Given the description of an element on the screen output the (x, y) to click on. 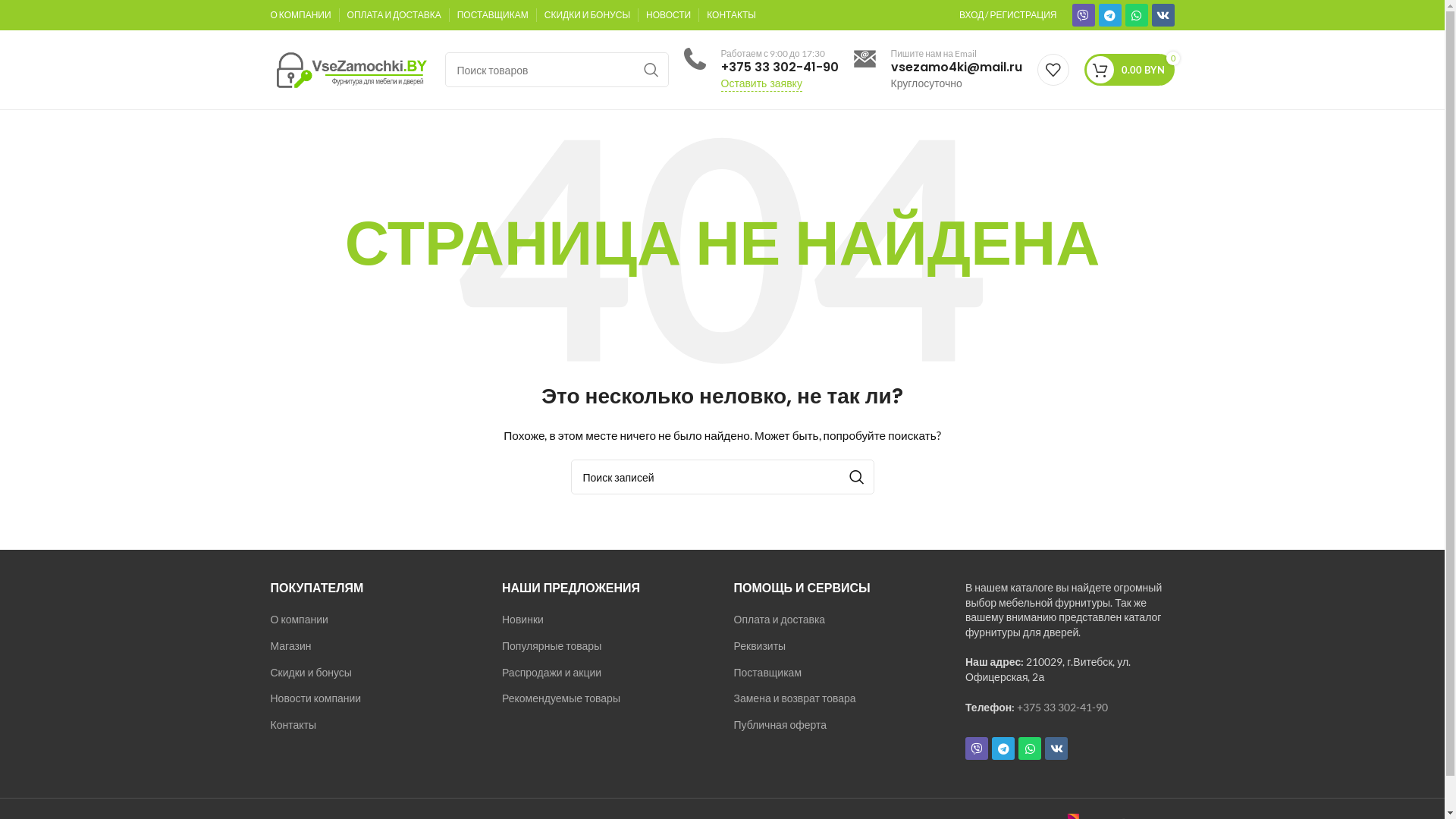
icon-phone-1 Element type: hover (864, 58)
+375 33 302-41-90 Element type: text (1061, 706)
0
0.00 BYN Element type: text (1129, 69)
icon-phone Element type: hover (695, 58)
